Given the description of an element on the screen output the (x, y) to click on. 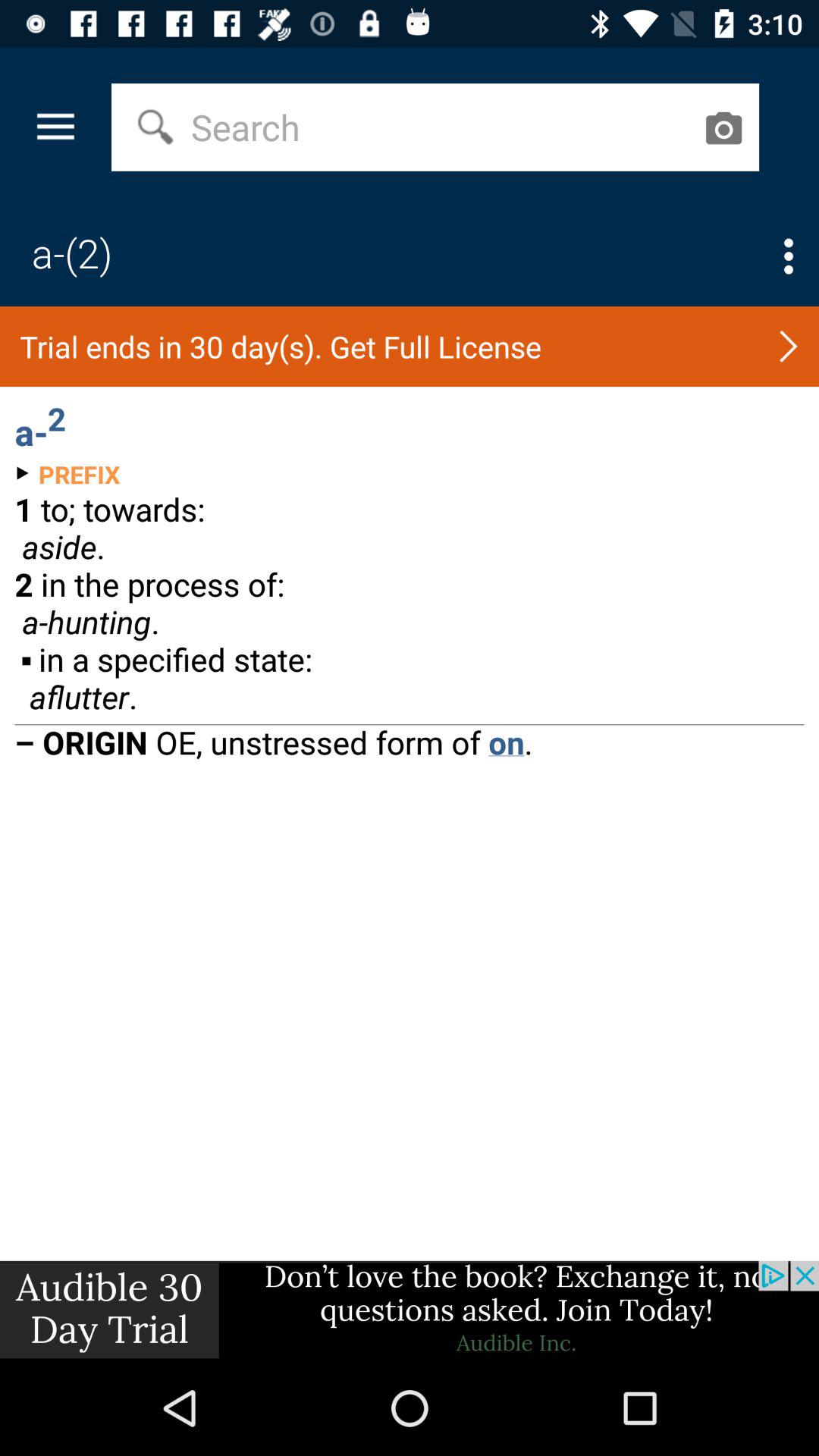
apps (788, 256)
